Given the description of an element on the screen output the (x, y) to click on. 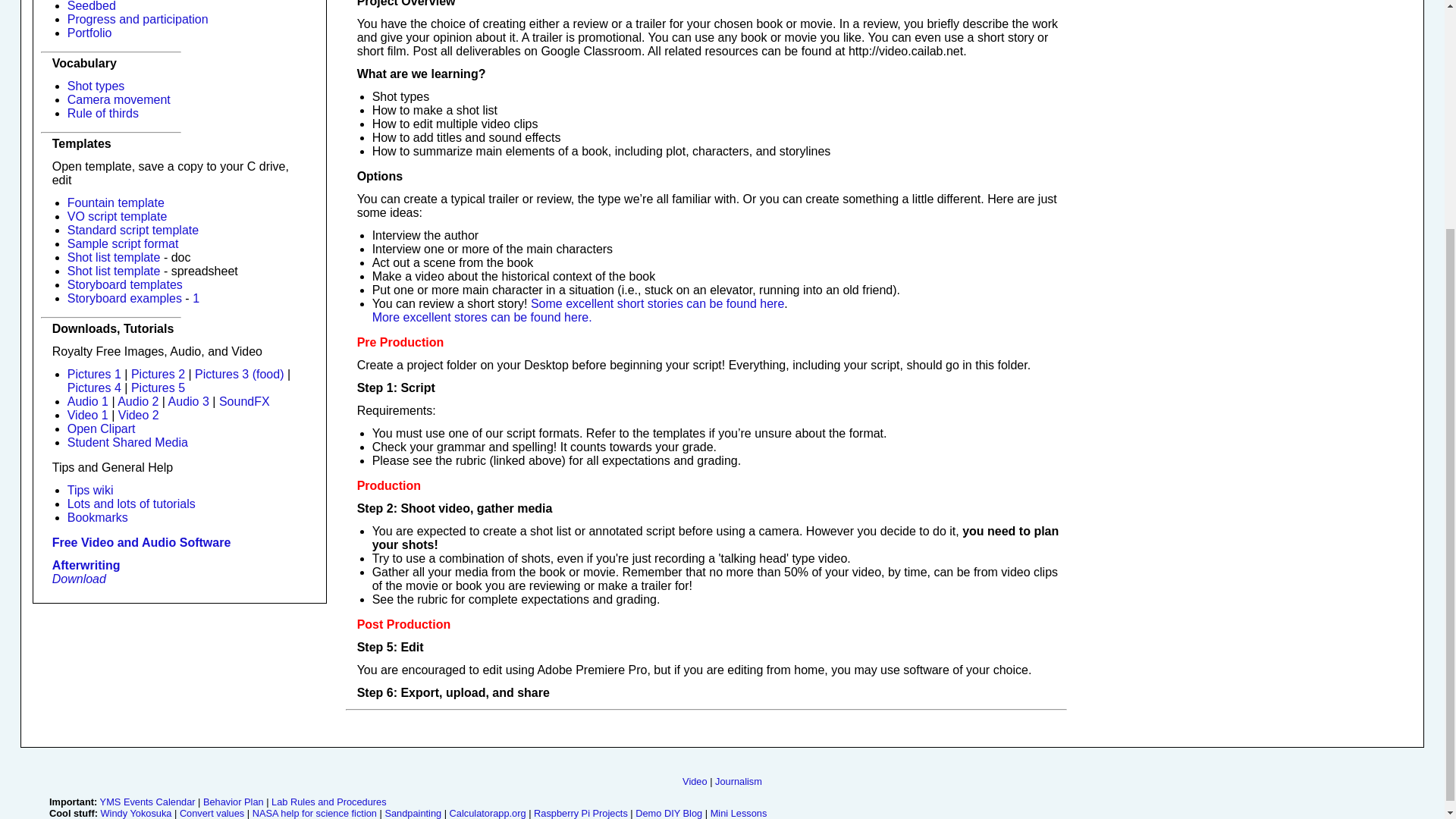
Progress and participation (137, 19)
VO script template (116, 215)
Tips wiki (89, 490)
Storyboard examples (124, 297)
Open Clipart (100, 428)
Fountain template (115, 202)
Video 1 (86, 414)
Lots and lots of tutorials (130, 503)
Rule of thirds (102, 113)
Standard script template (132, 229)
Shot list template (113, 270)
Storyboard templates (124, 284)
Shot types (95, 85)
Pictures 2 (157, 373)
Seedbed (91, 6)
